Given the description of an element on the screen output the (x, y) to click on. 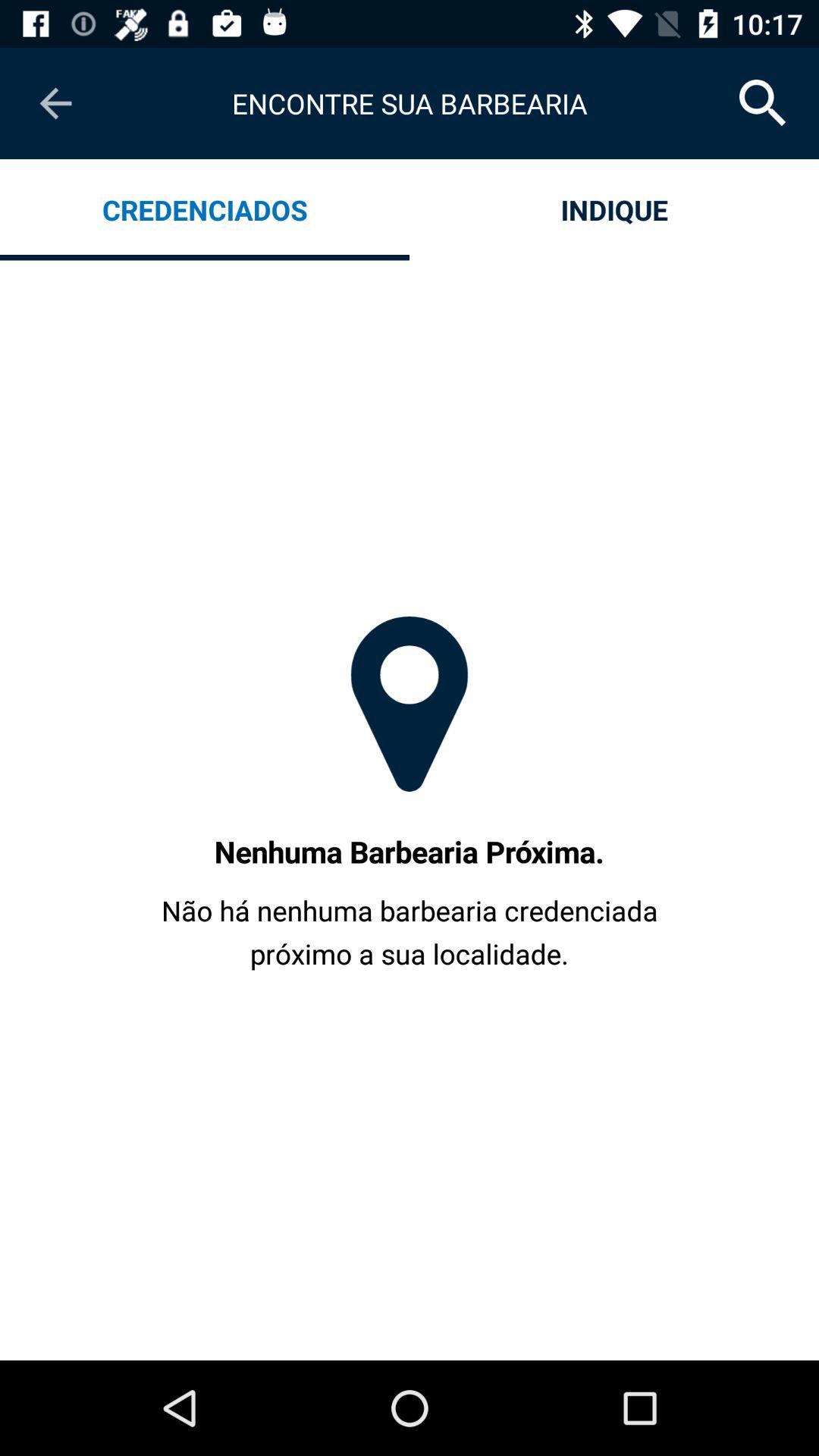
open icon to the right of the credenciados (614, 209)
